Given the description of an element on the screen output the (x, y) to click on. 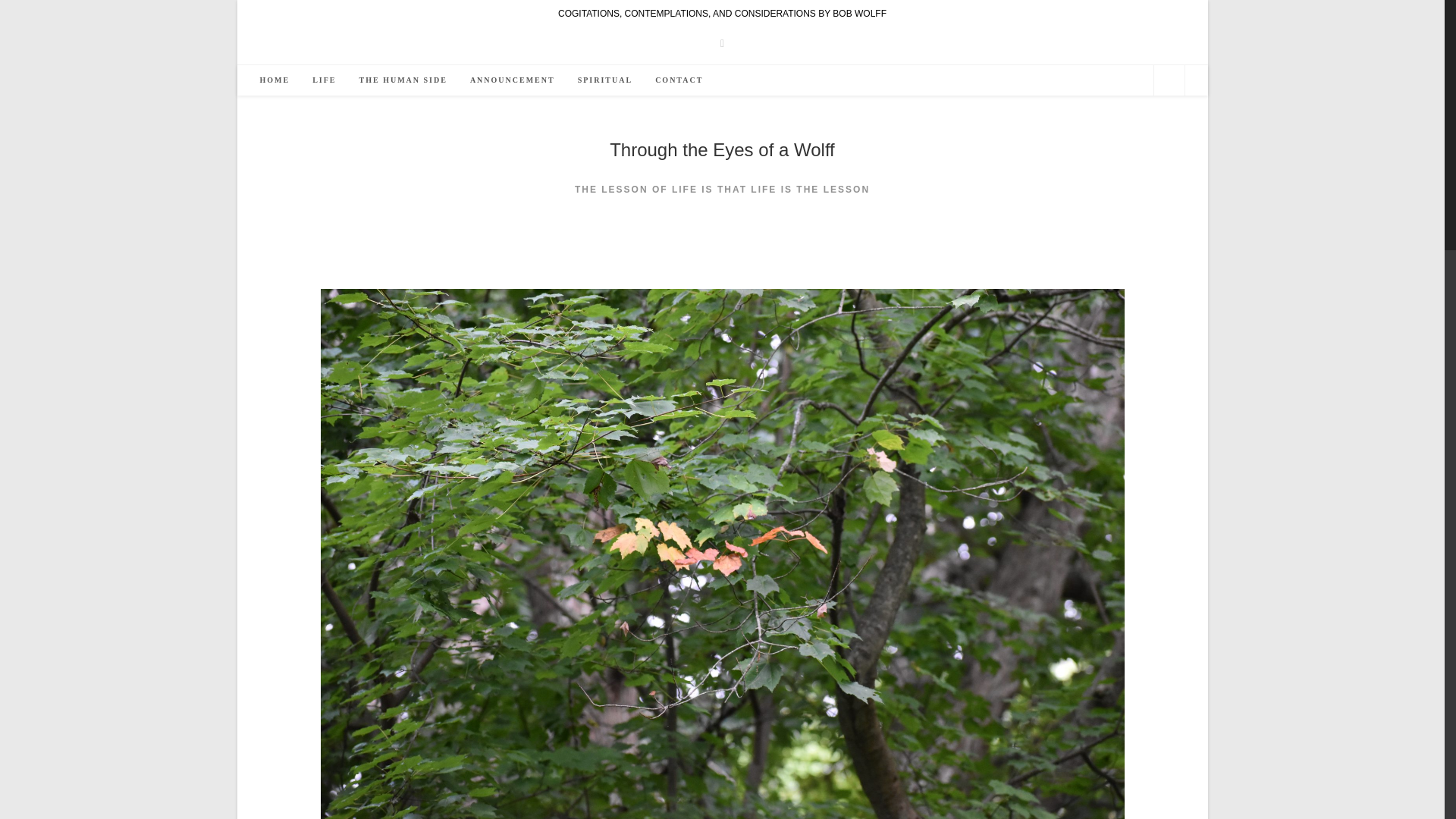
SPIRITUAL (604, 80)
LIFE (324, 80)
HOME (274, 80)
ANNOUNCEMENT (512, 80)
THE HUMAN SIDE (402, 80)
Through the Eyes of a Wolff (722, 149)
CONTACT (678, 80)
